Given the description of an element on the screen output the (x, y) to click on. 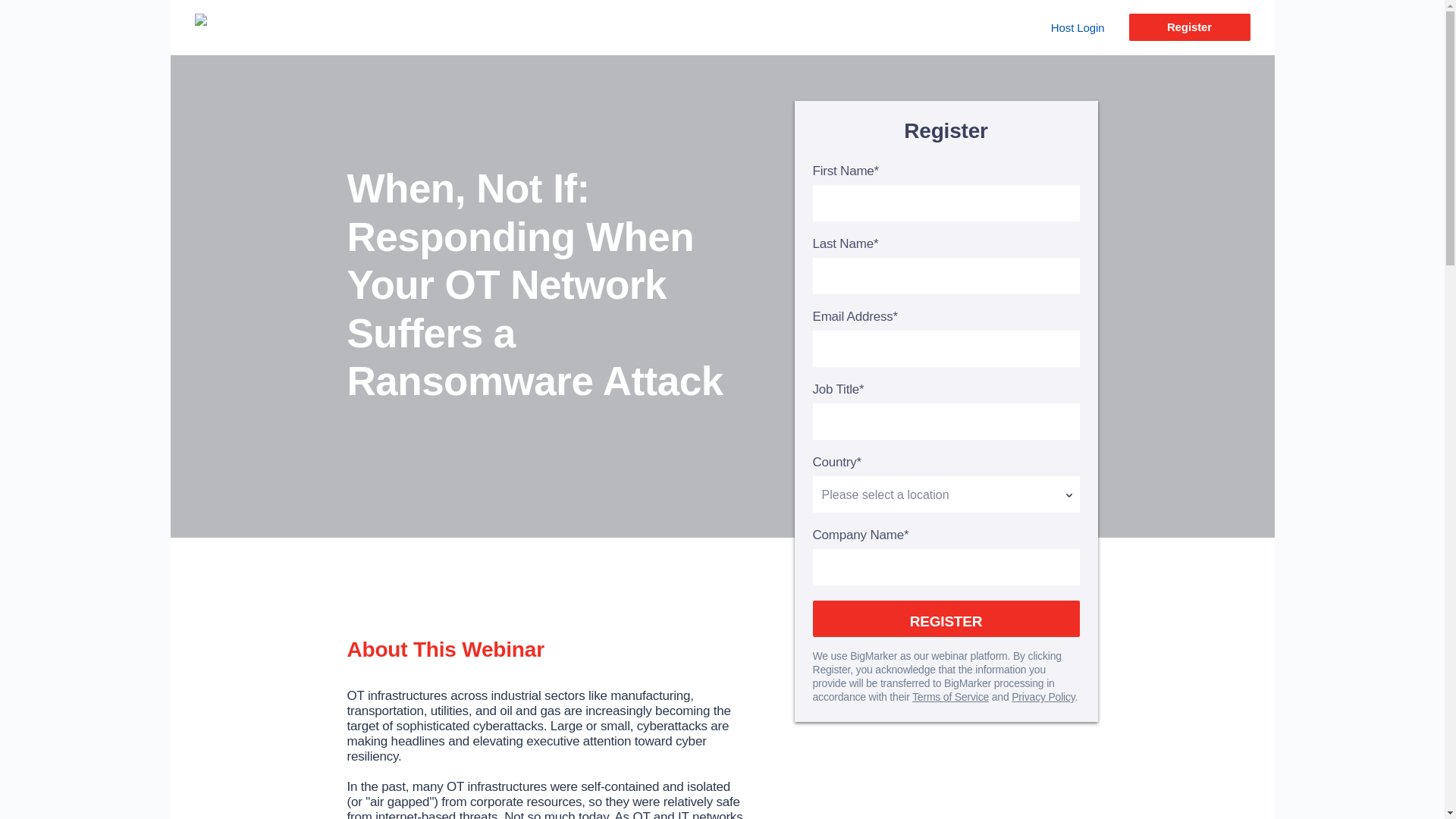
Register (1188, 26)
REGISTER (946, 618)
Host Login (1078, 27)
